Given the description of an element on the screen output the (x, y) to click on. 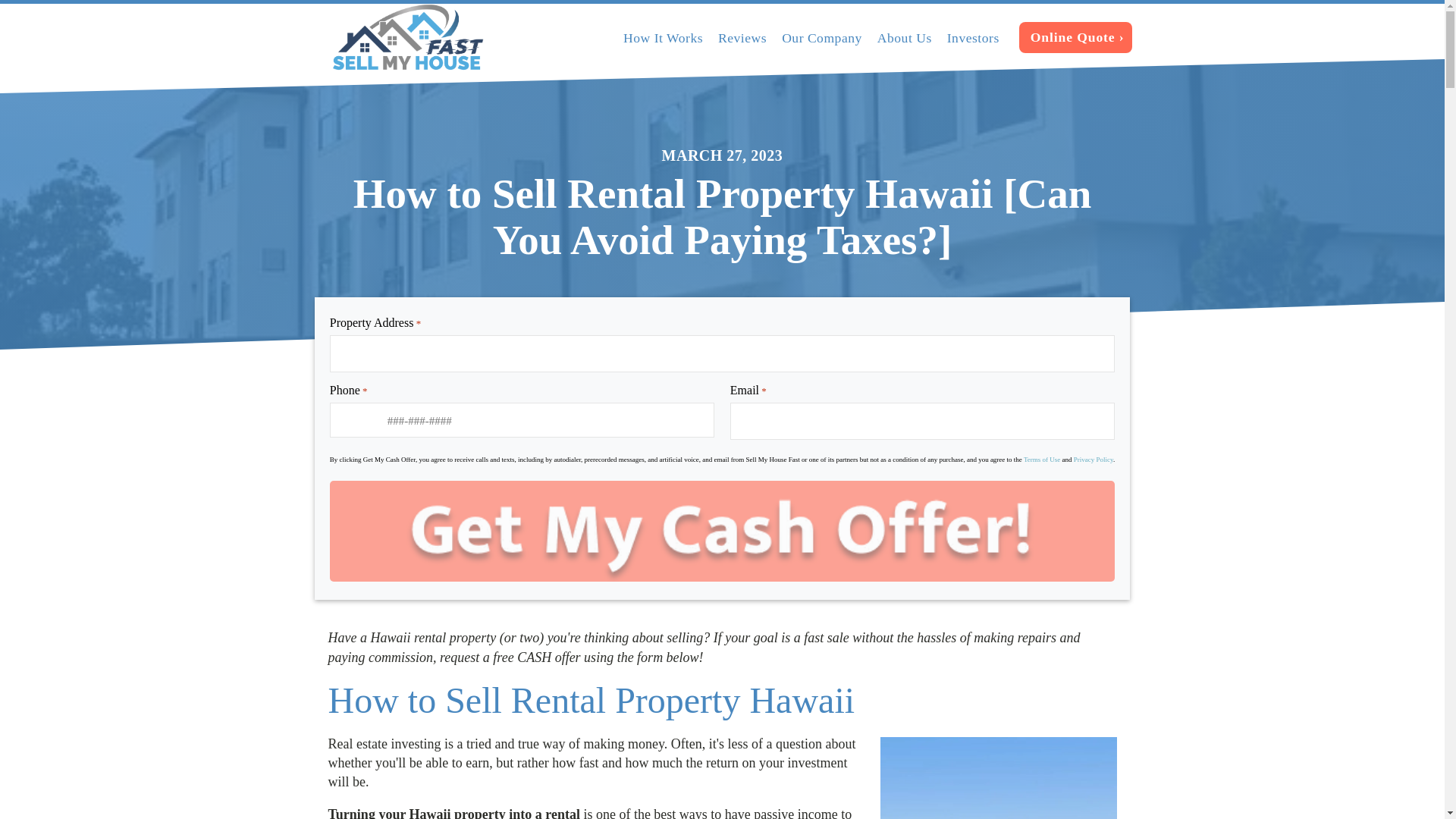
Investors (973, 37)
Privacy Policy (1093, 459)
About Us (904, 37)
How It Works (662, 37)
Terms of Use (1041, 459)
Our Company (821, 37)
Reviews (742, 37)
